Given the description of an element on the screen output the (x, y) to click on. 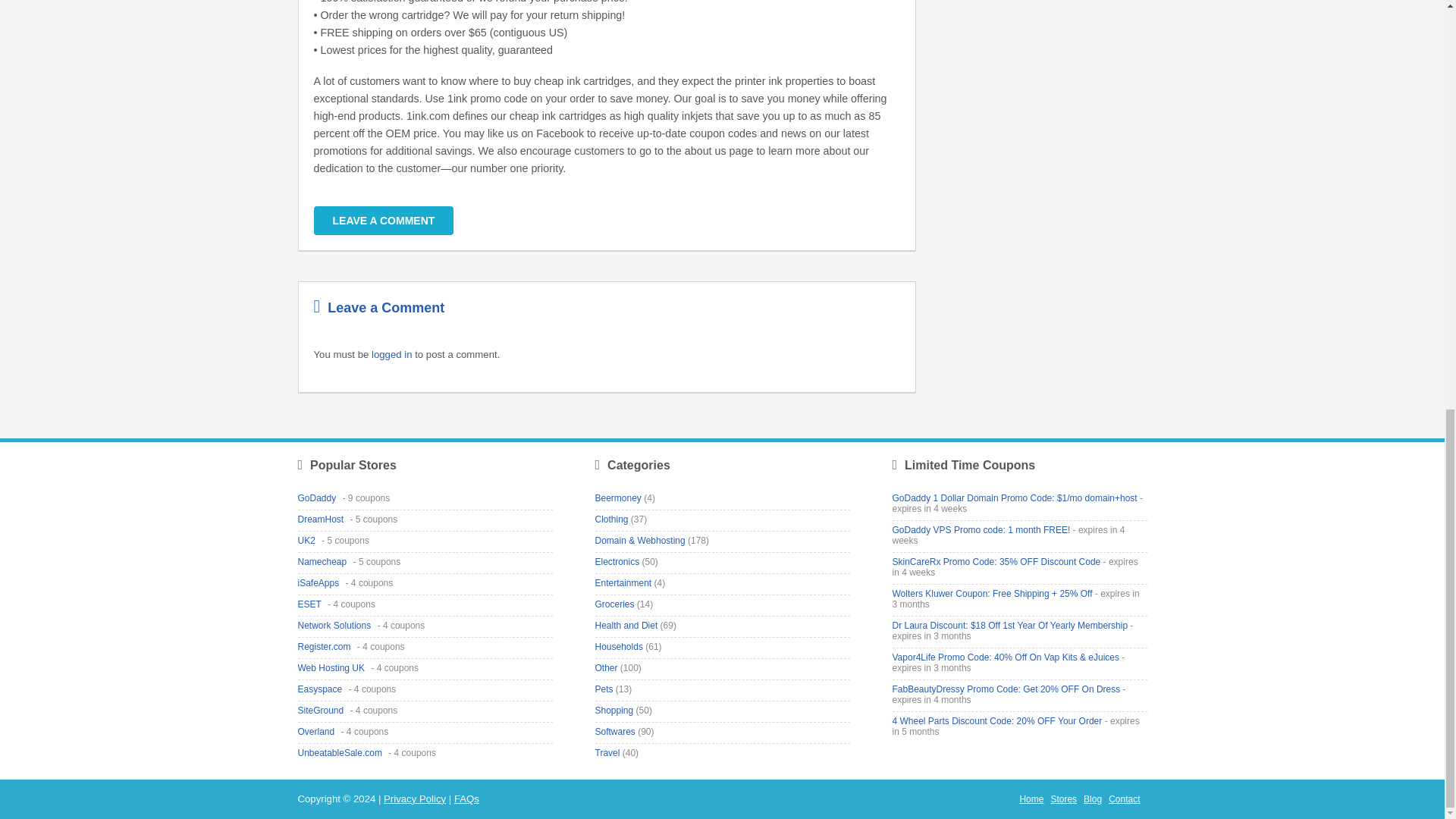
LEAVE A COMMENT (384, 220)
Coupon Codes not included in any particular caategory. (605, 667)
logged in (391, 354)
GoDaddy (318, 498)
Discounts and coupons for daily household items. (618, 646)
